Given the description of an element on the screen output the (x, y) to click on. 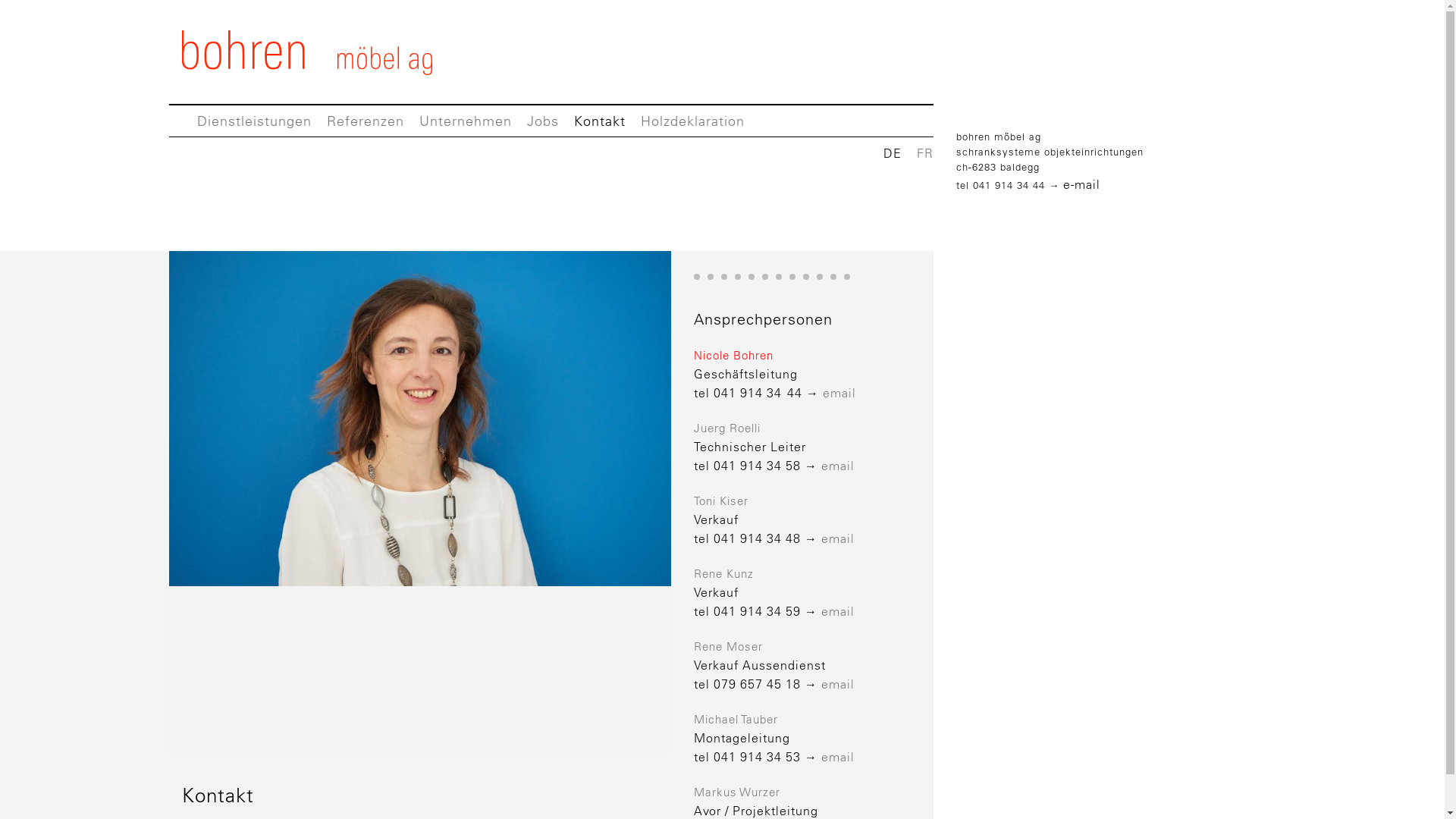
Rene Kunz Element type: text (723, 573)
Toni Kiser Element type: text (720, 500)
email Element type: text (837, 610)
Unternehmen Element type: text (464, 121)
Referenzen Element type: text (364, 121)
Holzdeklaration Element type: text (691, 121)
DE Element type: text (892, 152)
Juerg Roelli Element type: text (726, 427)
Kontakt Element type: text (598, 121)
email Element type: text (839, 392)
Markus Wurzer Element type: text (736, 791)
email Element type: text (837, 756)
email Element type: text (837, 683)
FR Element type: text (924, 152)
email Element type: text (837, 465)
Jobs Element type: text (542, 121)
email Element type: text (837, 538)
Michael Tauber Element type: text (735, 719)
e-mail Element type: text (1081, 184)
Dienstleistungen Element type: text (254, 121)
Rene Moser Element type: text (727, 646)
Nicole Bohren Element type: text (733, 355)
